Given the description of an element on the screen output the (x, y) to click on. 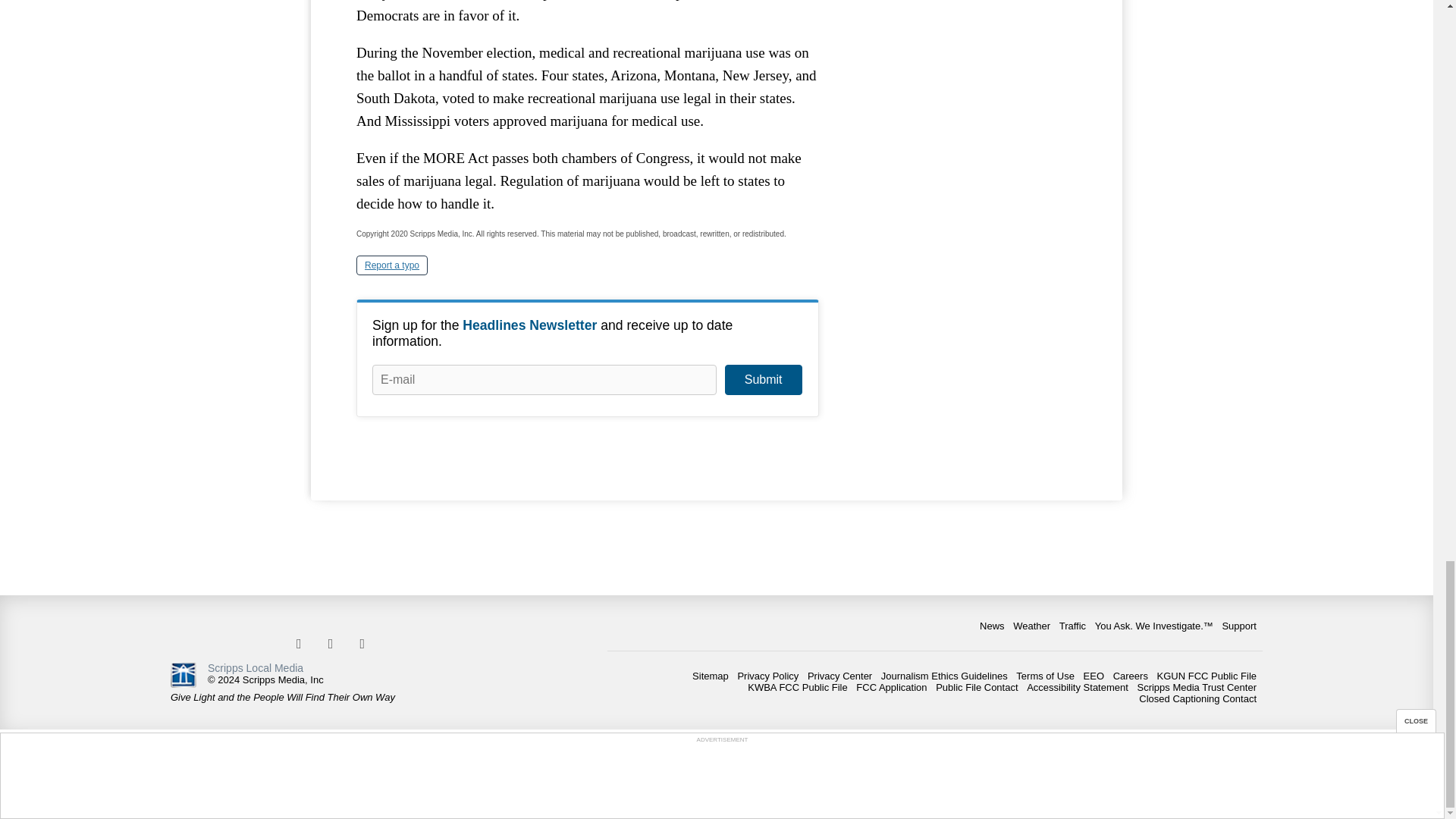
Submit (763, 379)
